Given the description of an element on the screen output the (x, y) to click on. 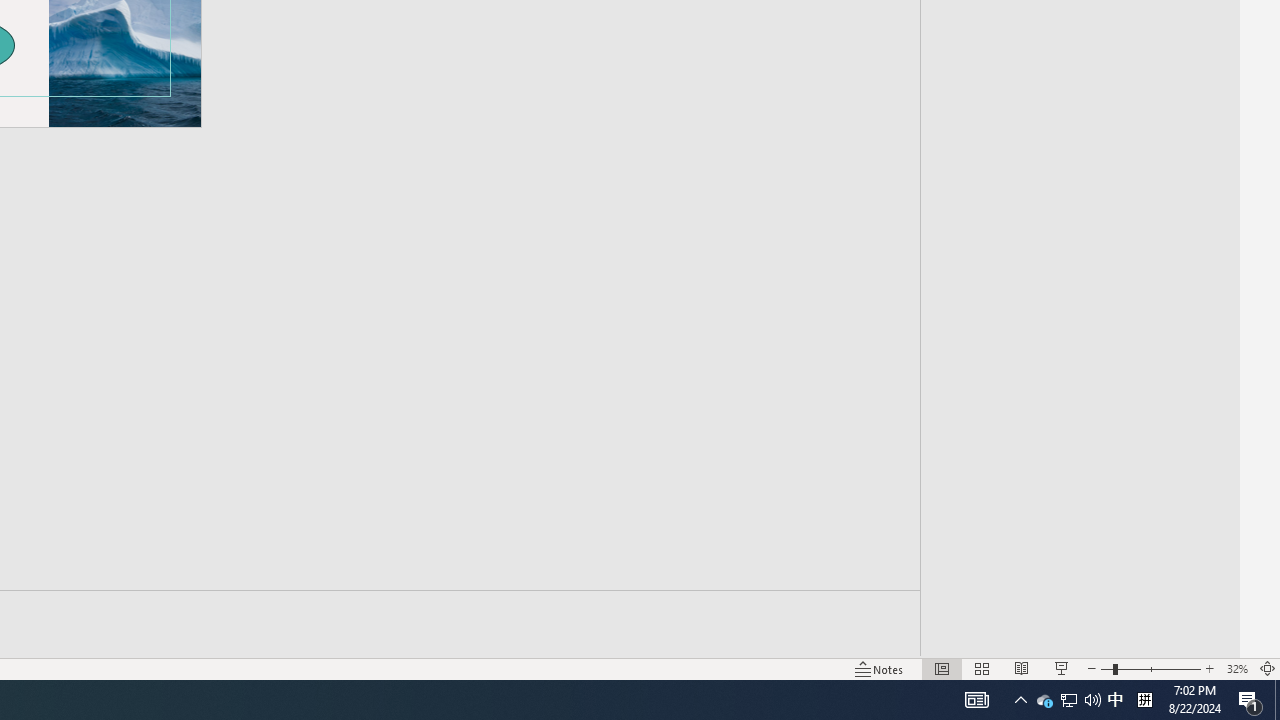
Zoom 32% (1236, 668)
Notes  (879, 668)
